Given the description of an element on the screen output the (x, y) to click on. 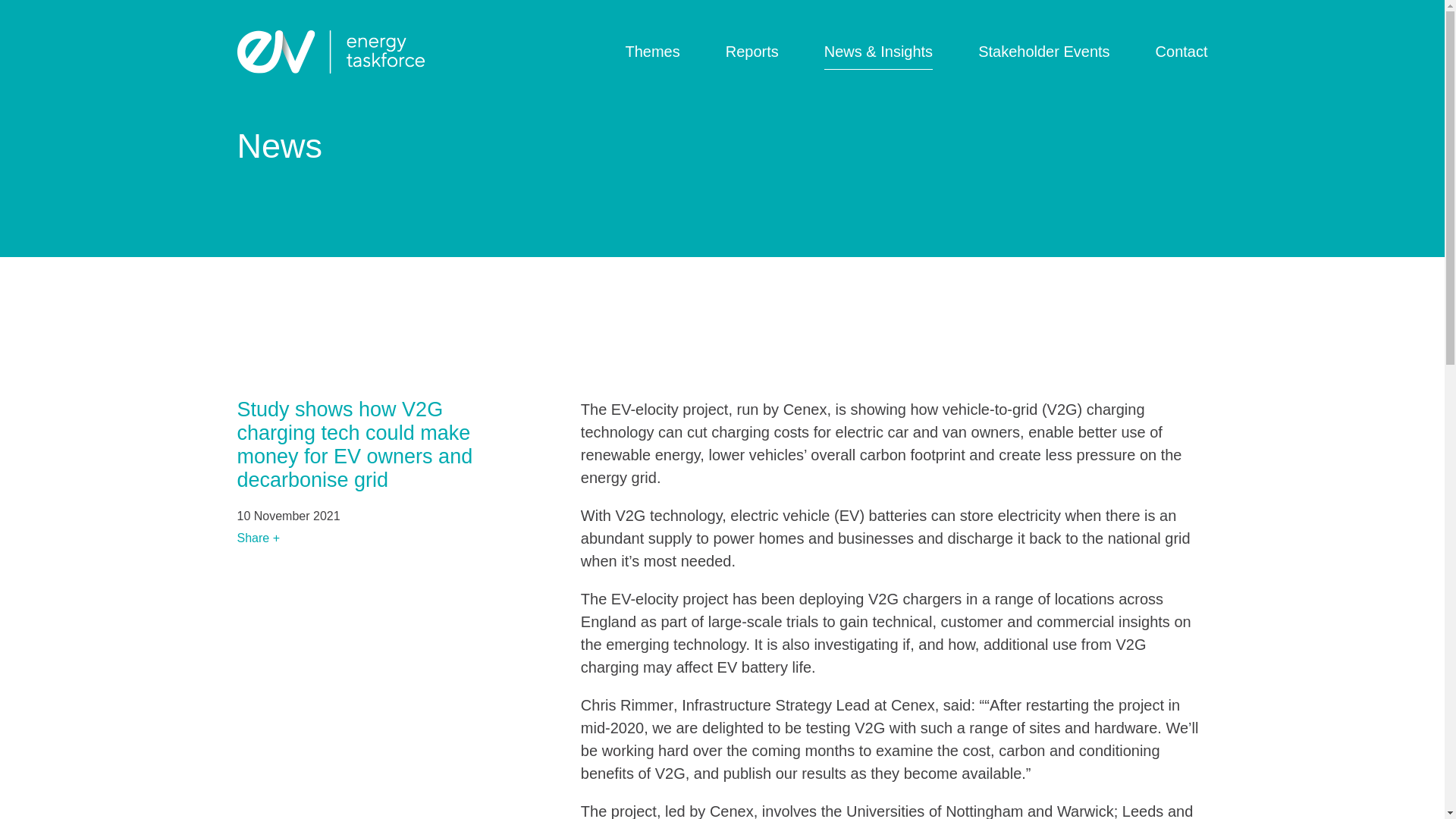
Cenex (912, 704)
Legal Terms (1161, 770)
Electric Vehicle Energy Taskforce (329, 51)
EV-elocity project (670, 409)
YouTube (317, 769)
Twitter (247, 769)
Themes (651, 51)
Reports (751, 51)
Search (721, 40)
Twitter (247, 769)
